Given the description of an element on the screen output the (x, y) to click on. 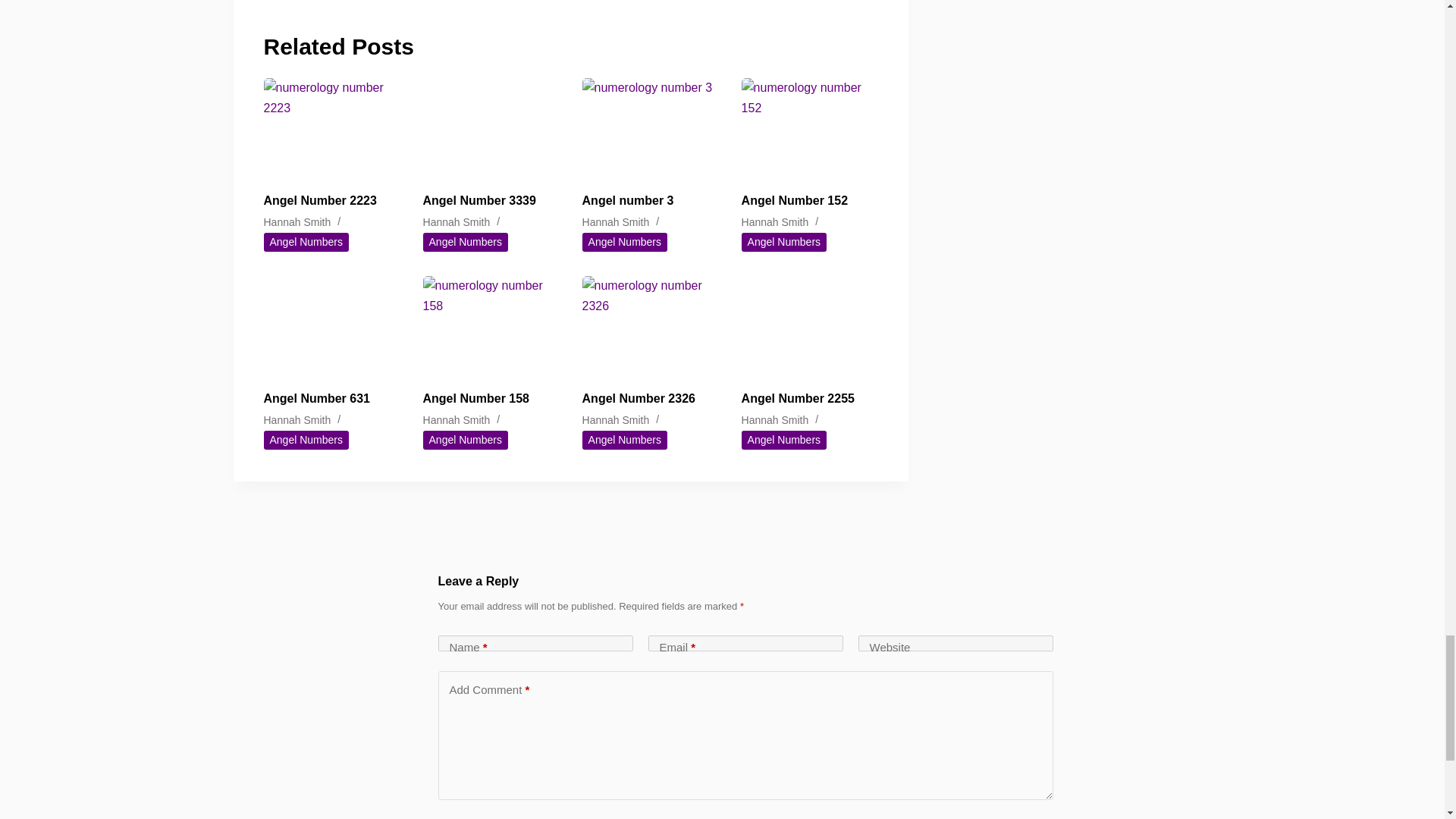
Posts by Hannah Smith (456, 419)
Posts by Hannah Smith (775, 222)
Posts by Hannah Smith (297, 419)
Posts by Hannah Smith (297, 222)
Posts by Hannah Smith (456, 222)
Posts by Hannah Smith (615, 222)
Posts by Hannah Smith (775, 419)
Posts by Hannah Smith (615, 419)
